Given the description of an element on the screen output the (x, y) to click on. 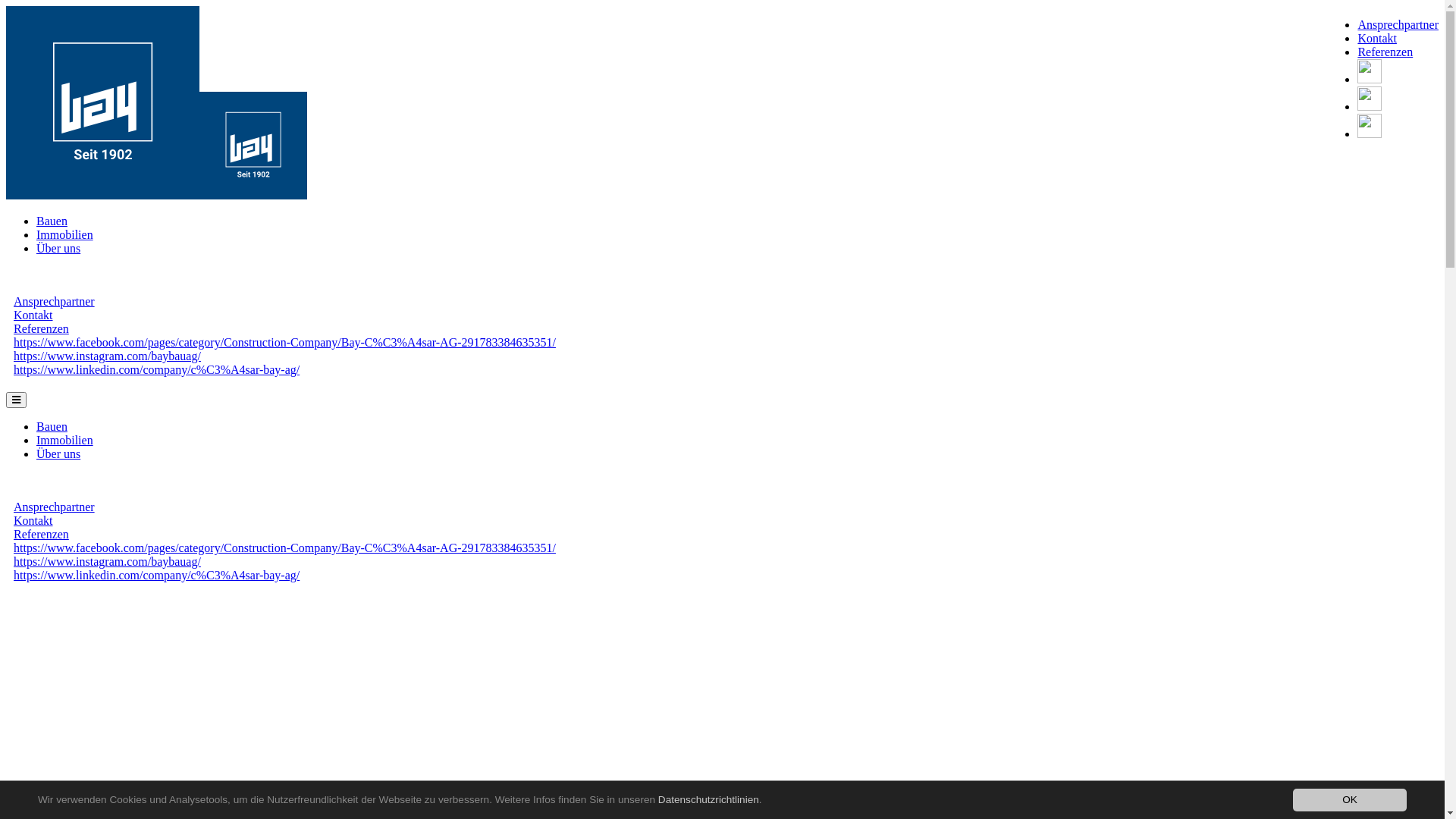
Immobilien Element type: text (64, 234)
https://www.linkedin.com/company/c%C3%A4sar-bay-ag/ Element type: text (156, 369)
Datenschutzrichtlinien Element type: text (707, 799)
Bauen Element type: text (51, 426)
Ansprechpartner Element type: text (53, 506)
Ansprechpartner Element type: text (53, 300)
Bauen Element type: text (51, 220)
Kontakt Element type: text (33, 314)
OK Element type: text (1349, 799)
Immobilien Element type: text (64, 439)
Referenzen Element type: text (41, 533)
https://www.instagram.com/baybauag/ Element type: text (106, 355)
https://www.instagram.com/baybauag/ Element type: text (106, 561)
Kontakt Element type: text (33, 520)
Kontakt Element type: text (1376, 37)
Ansprechpartner Element type: text (1397, 24)
https://www.linkedin.com/company/c%C3%A4sar-bay-ag/ Element type: text (156, 574)
Toggle navigation Element type: text (16, 399)
Referenzen Element type: text (1384, 51)
Referenzen Element type: text (41, 328)
